Given the description of an element on the screen output the (x, y) to click on. 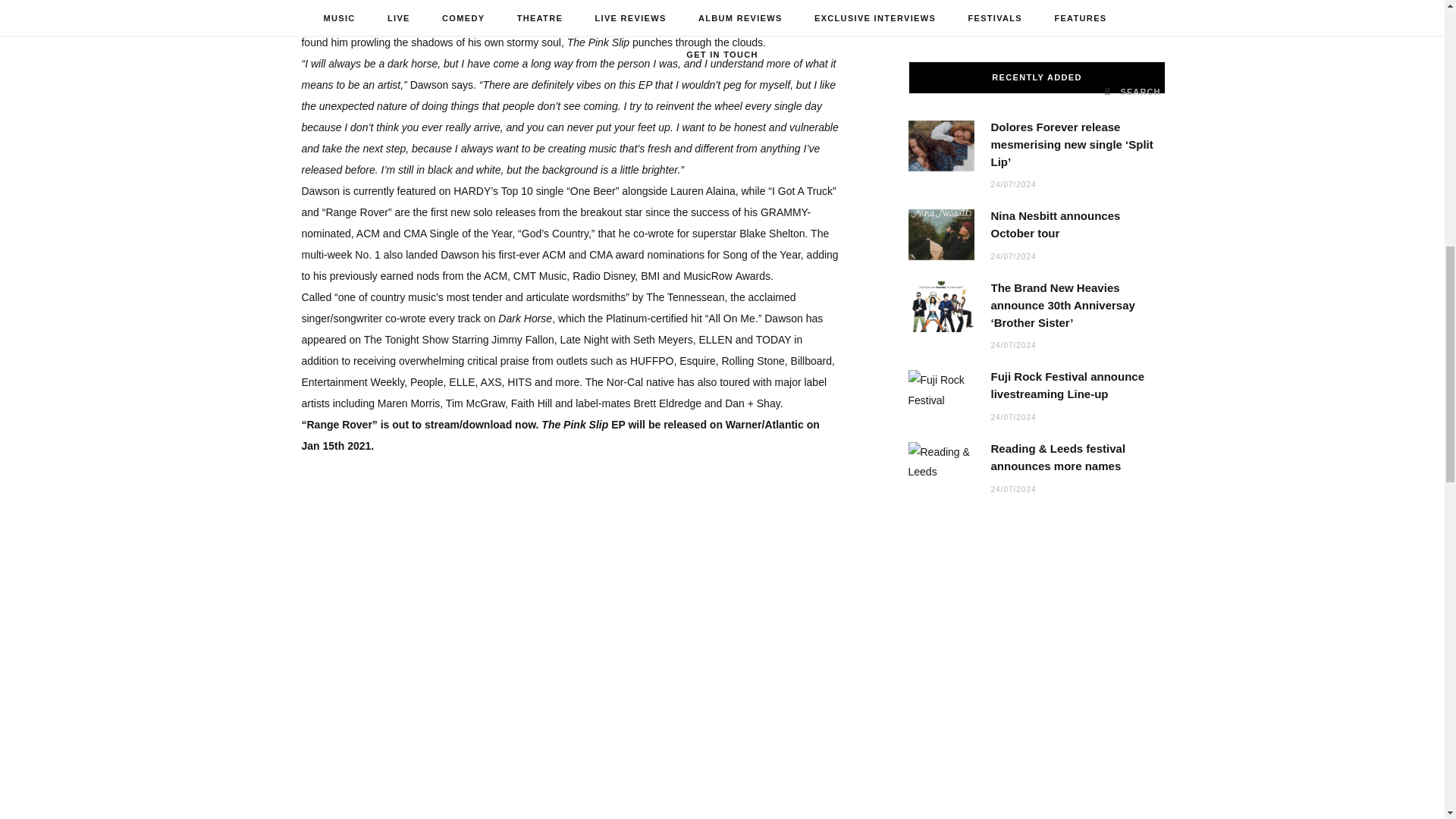
I Got a Truck (692, 2)
